Given the description of an element on the screen output the (x, y) to click on. 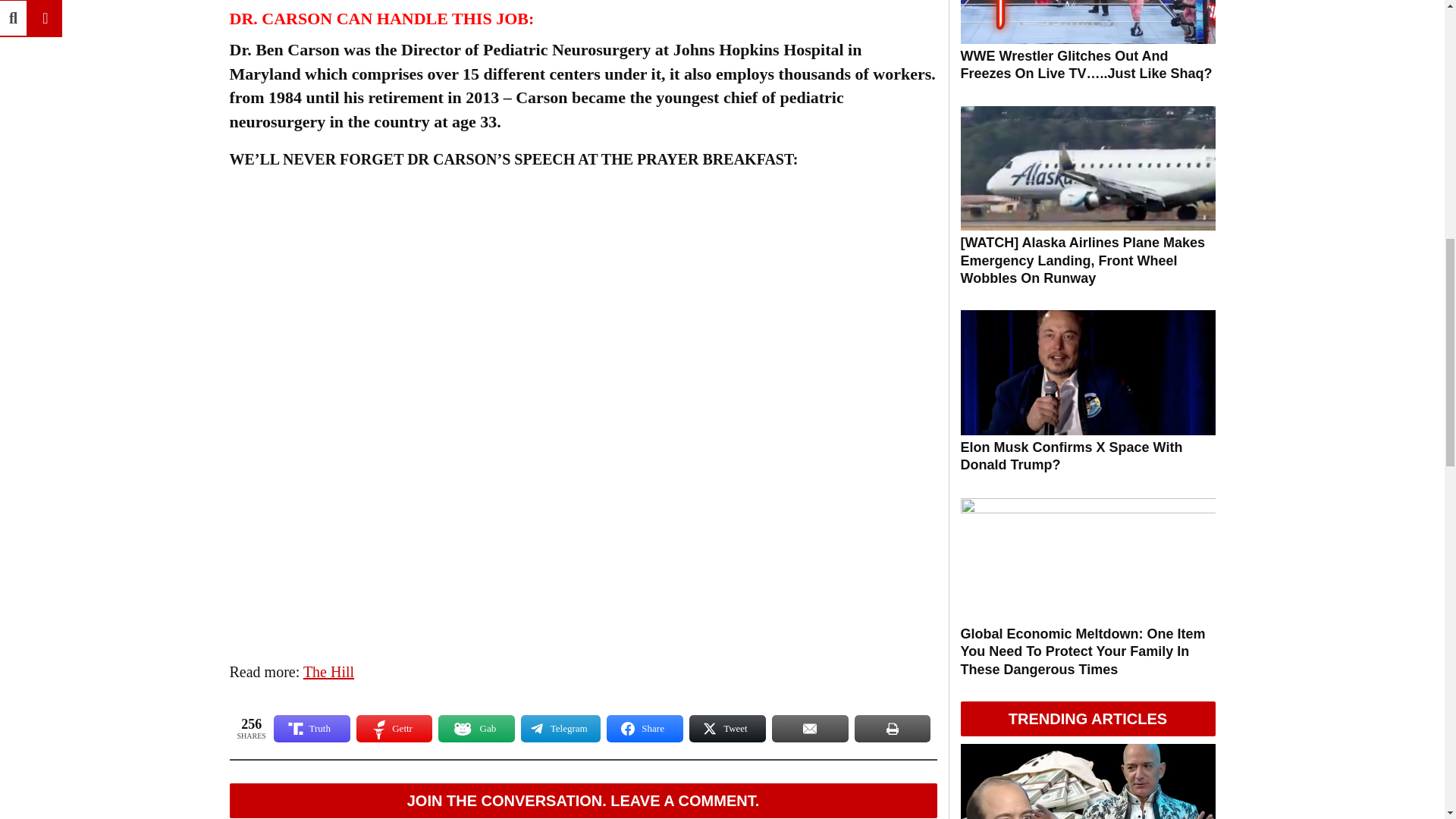
Share on Truth (311, 728)
Share on Share (644, 728)
Share on Telegram (560, 728)
Share on Tweet (726, 728)
Share on Gab (476, 728)
Share on Gettr (394, 728)
The Hill (327, 671)
